Given the description of an element on the screen output the (x, y) to click on. 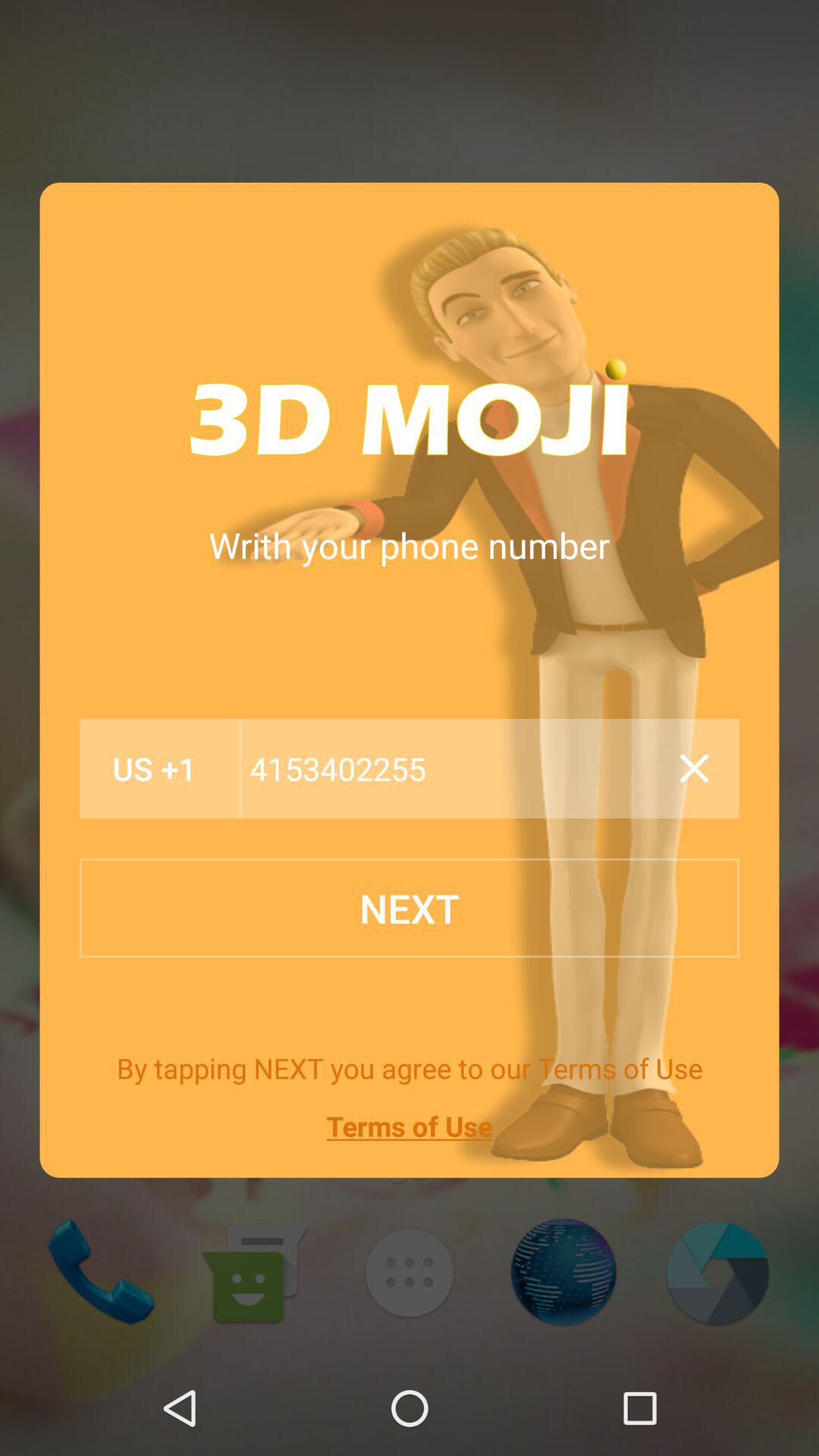
click the item below the writh your phone item (454, 768)
